Given the description of an element on the screen output the (x, y) to click on. 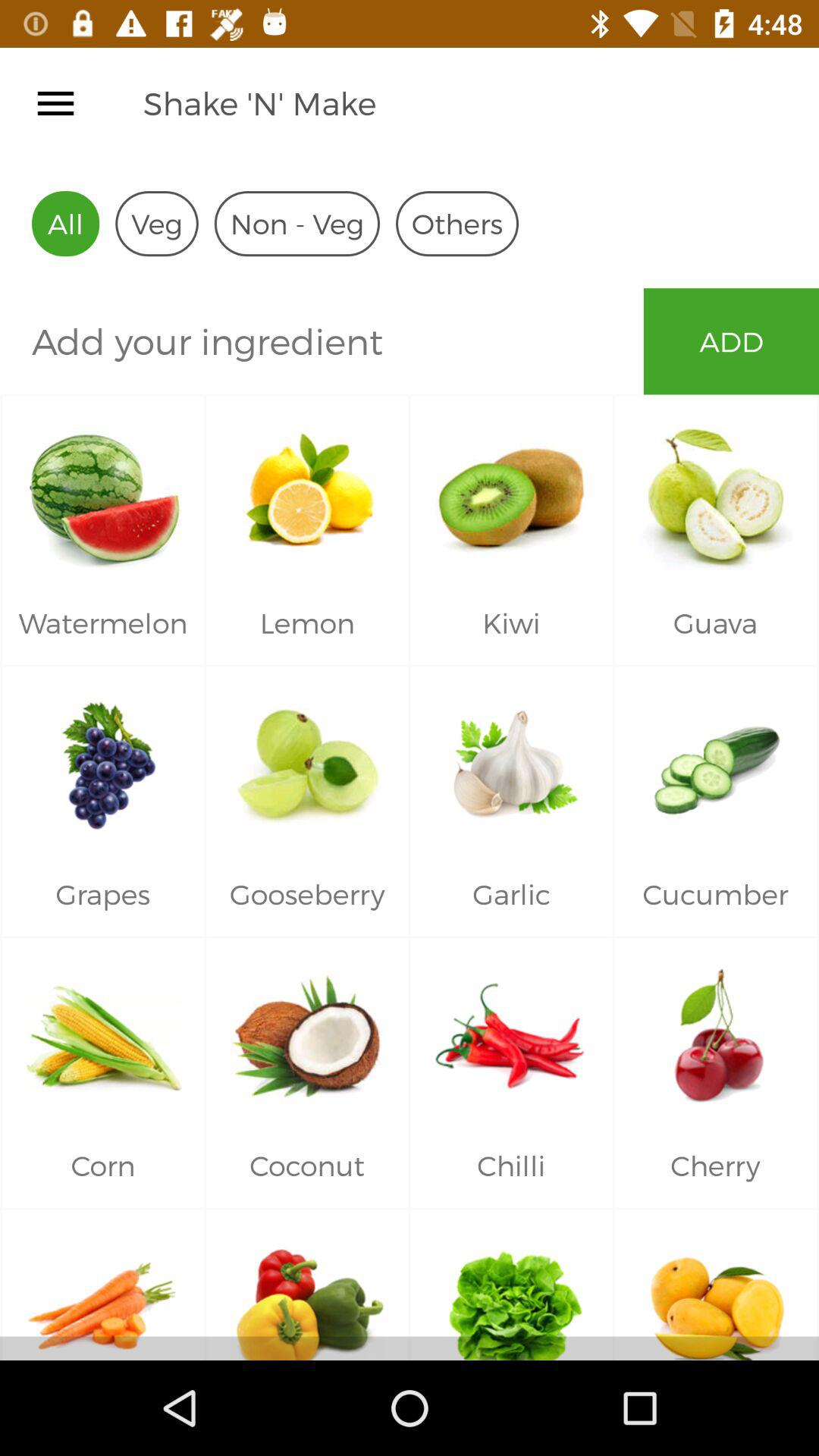
scroll to non - veg icon (296, 223)
